Given the description of an element on the screen output the (x, y) to click on. 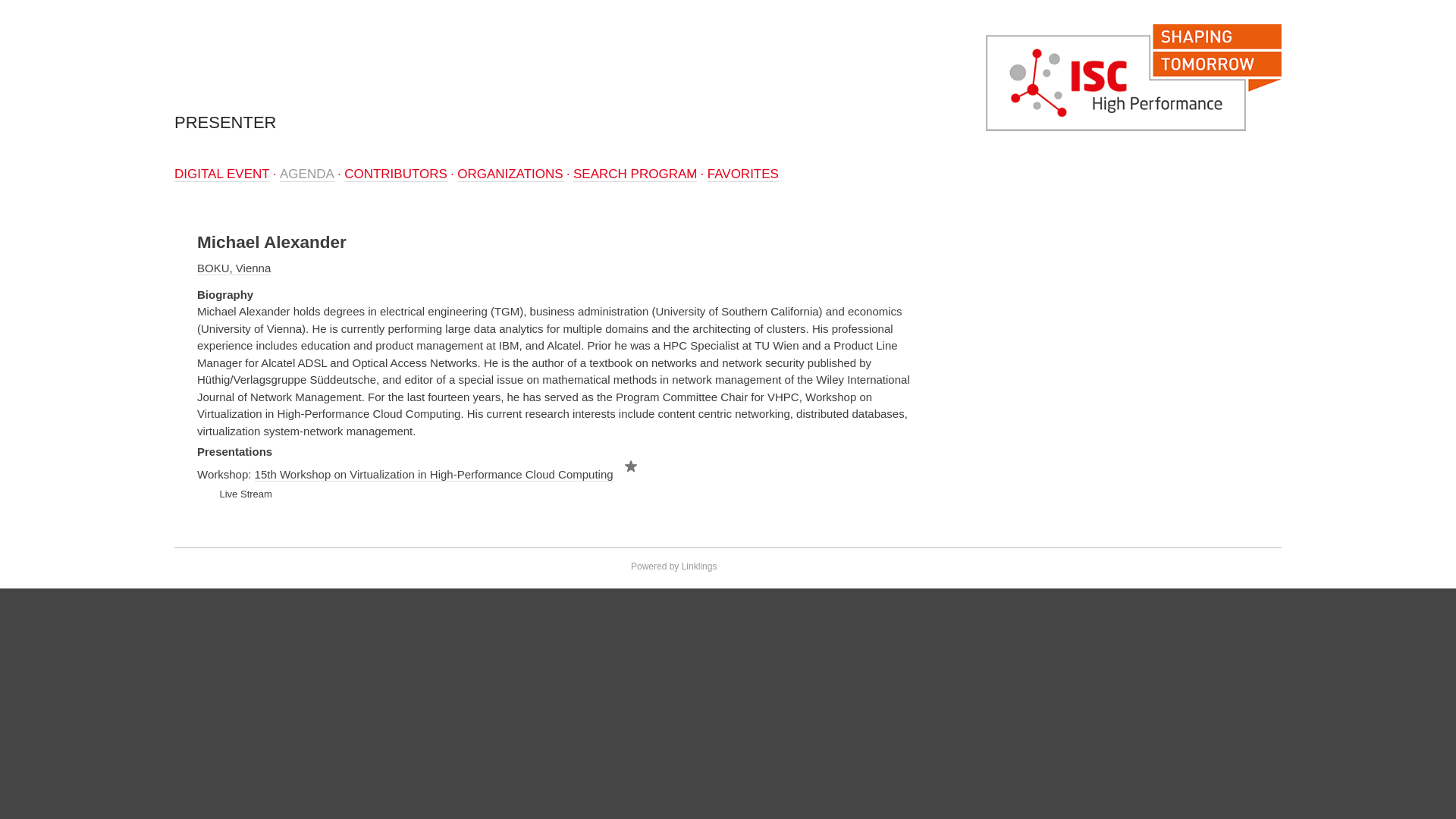
SEARCH PROGRAM (635, 174)
Powered by Linklings (665, 566)
FAVORITES (742, 174)
AGENDA (306, 174)
BOKU, Vienna (233, 268)
DIGITAL EVENT (221, 174)
CONTRIBUTORS (394, 174)
ORGANIZATIONS (509, 174)
